Given the description of an element on the screen output the (x, y) to click on. 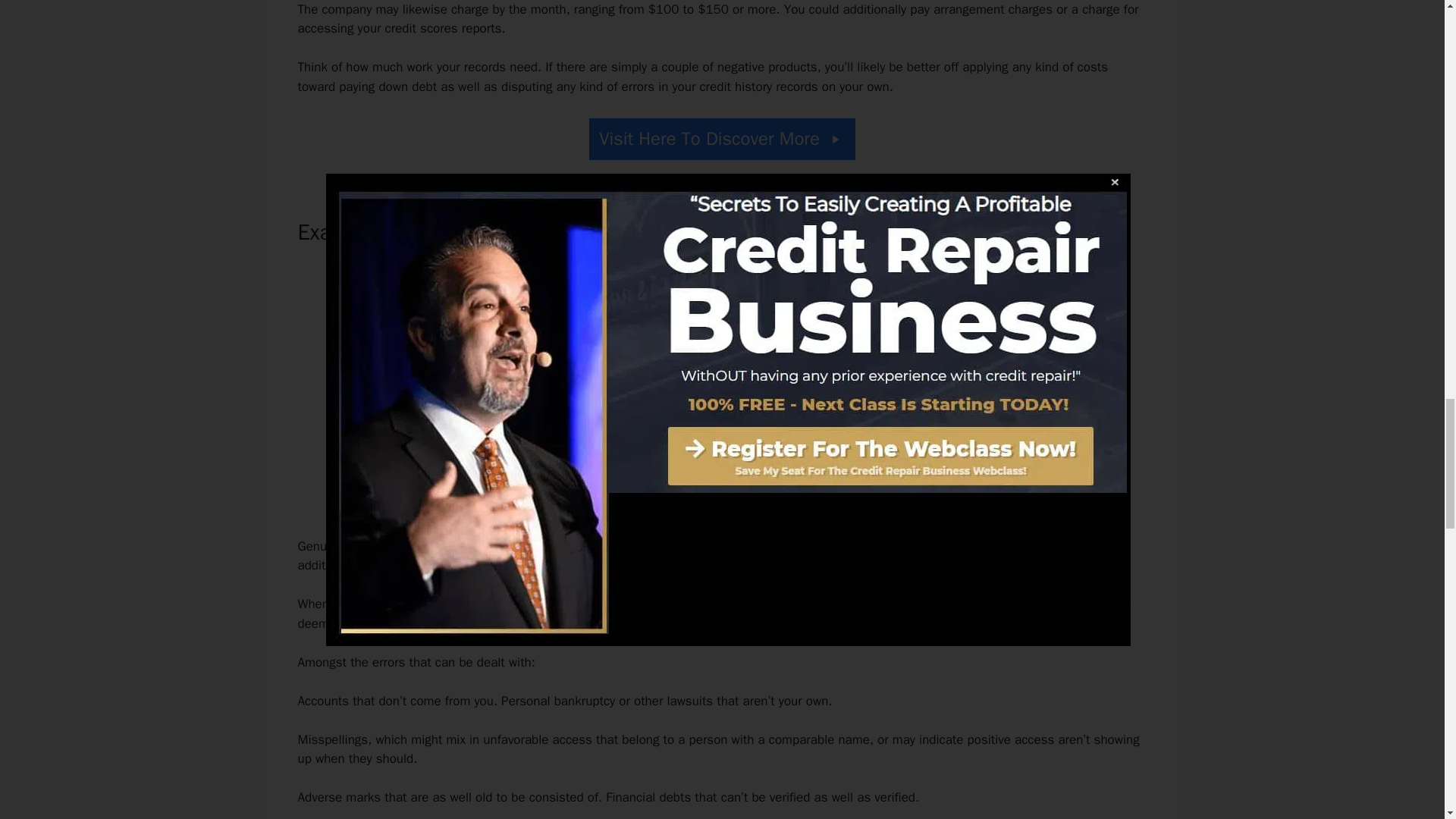
Visit Here To Discover More (722, 138)
